Given the description of an element on the screen output the (x, y) to click on. 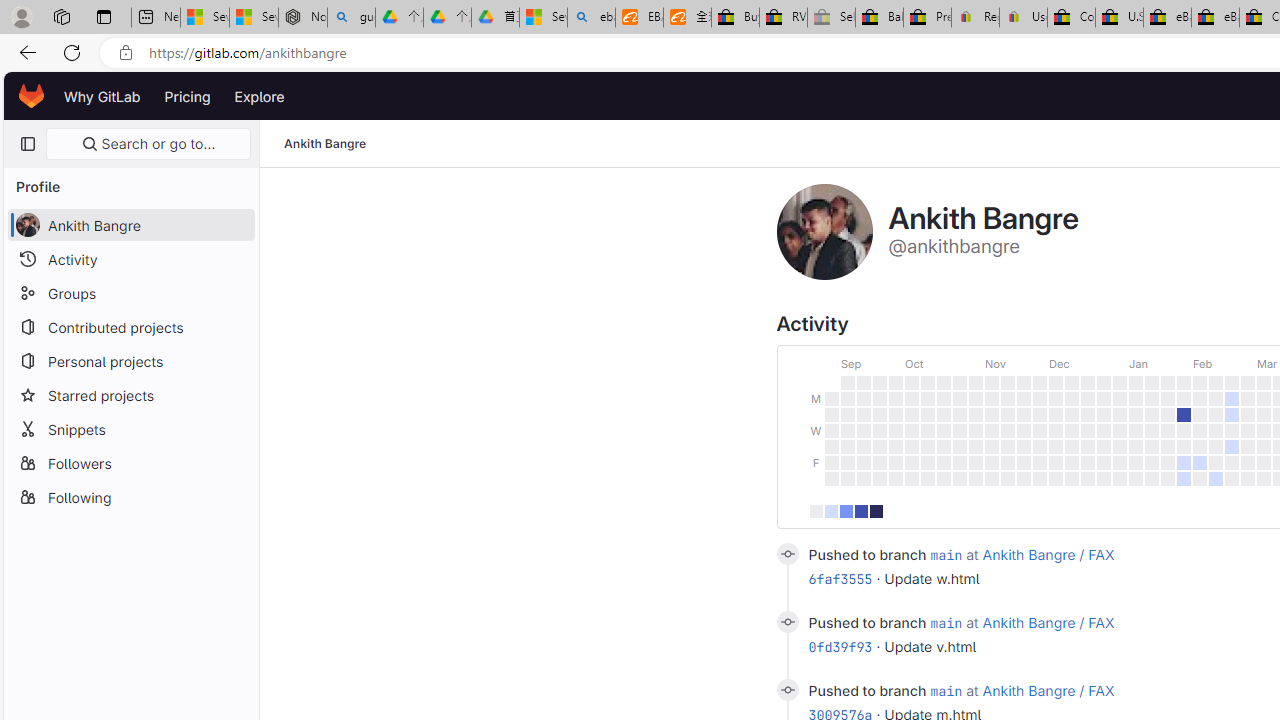
1-9 contributions (831, 510)
Homepage (31, 95)
Explore (259, 95)
Why GitLab (102, 95)
avatar (27, 224)
